Given the description of an element on the screen output the (x, y) to click on. 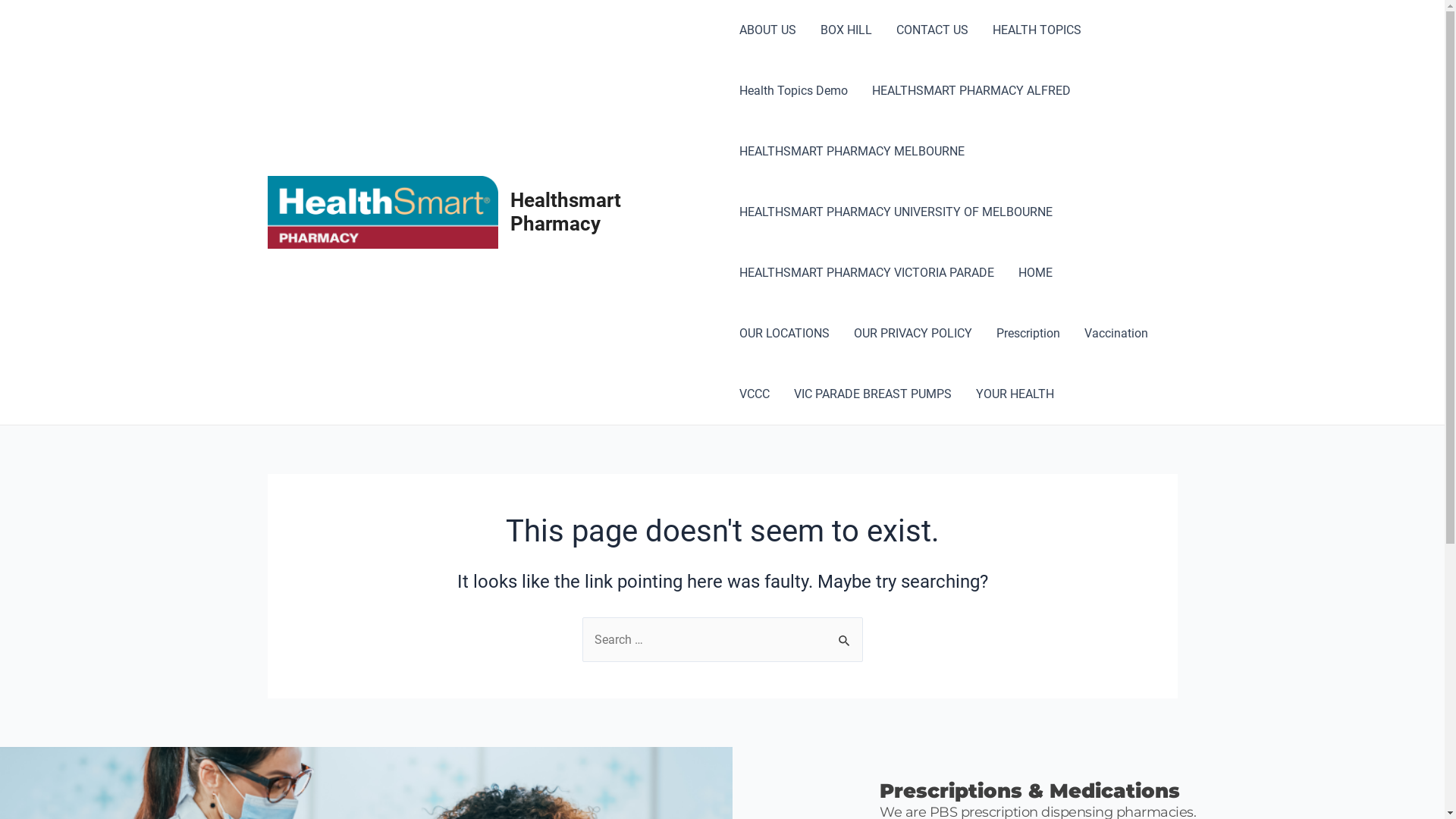
YOUR HEALTH Element type: text (1014, 394)
HEALTHSMART PHARMACY ALFRED Element type: text (970, 90)
VCCC Element type: text (754, 394)
ABOUT US Element type: text (767, 30)
Health Topics Demo Element type: text (793, 90)
CONTACT US Element type: text (932, 30)
Prescription Element type: text (1028, 333)
OUR PRIVACY POLICY Element type: text (912, 333)
HEALTHSMART PHARMACY VICTORIA PARADE Element type: text (866, 272)
OUR LOCATIONS Element type: text (784, 333)
BOX HILL Element type: text (846, 30)
Search Element type: text (845, 633)
HOME Element type: text (1035, 272)
HEALTH TOPICS Element type: text (1036, 30)
HEALTHSMART PHARMACY MELBOURNE Element type: text (851, 151)
VIC PARADE BREAST PUMPS Element type: text (872, 394)
HEALTHSMART PHARMACY UNIVERSITY OF MELBOURNE Element type: text (895, 212)
Vaccination Element type: text (1116, 333)
Healthsmart Pharmacy Element type: text (565, 211)
